Given the description of an element on the screen output the (x, y) to click on. 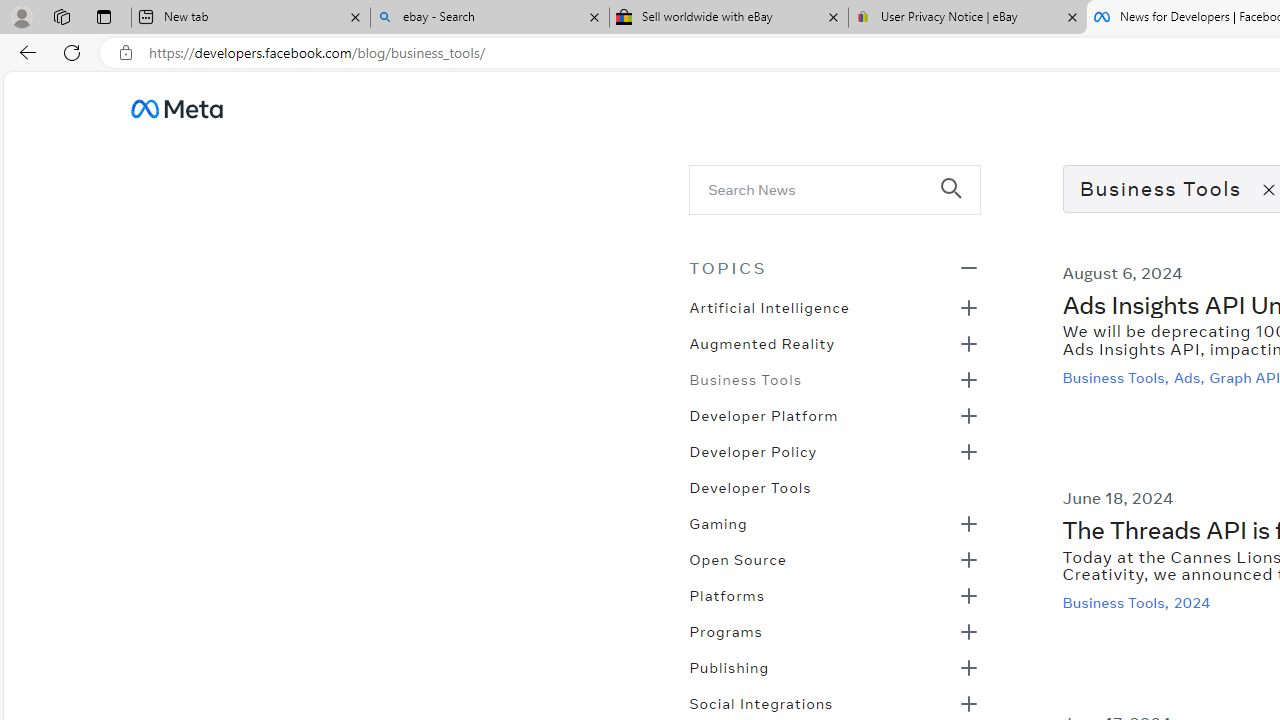
Developer Tools (749, 485)
Business Tools, (1117, 602)
Class: _98ce (959, 201)
Artificial Intelligence (768, 305)
Platforms (726, 593)
AutomationID: u_0_4z_2S (176, 107)
Class: _58al (820, 188)
Programs (725, 629)
